Given the description of an element on the screen output the (x, y) to click on. 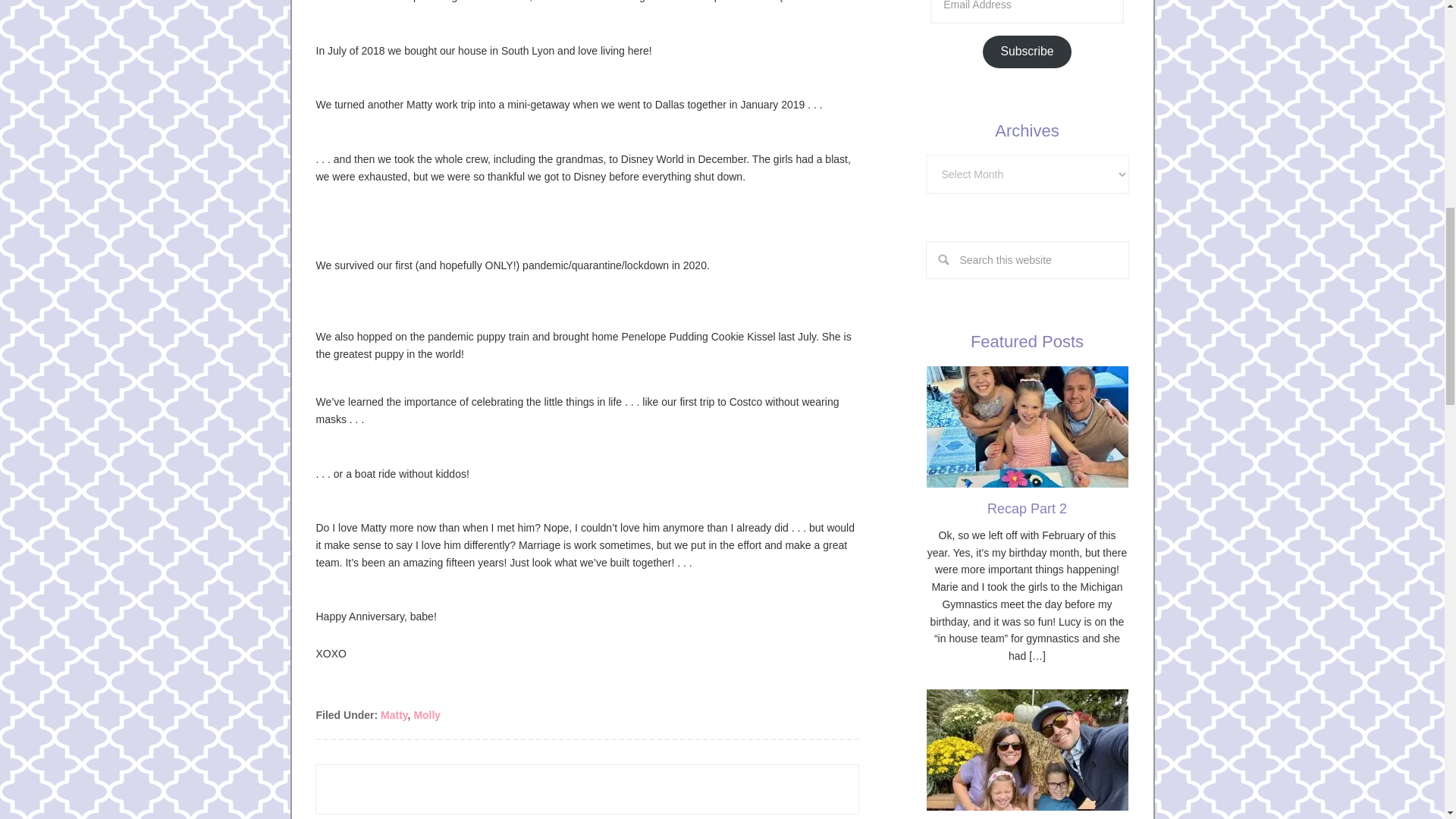
Subscribe (1026, 51)
Molly (427, 714)
Recap Part 2 (1027, 508)
Matty (393, 714)
